Given the description of an element on the screen output the (x, y) to click on. 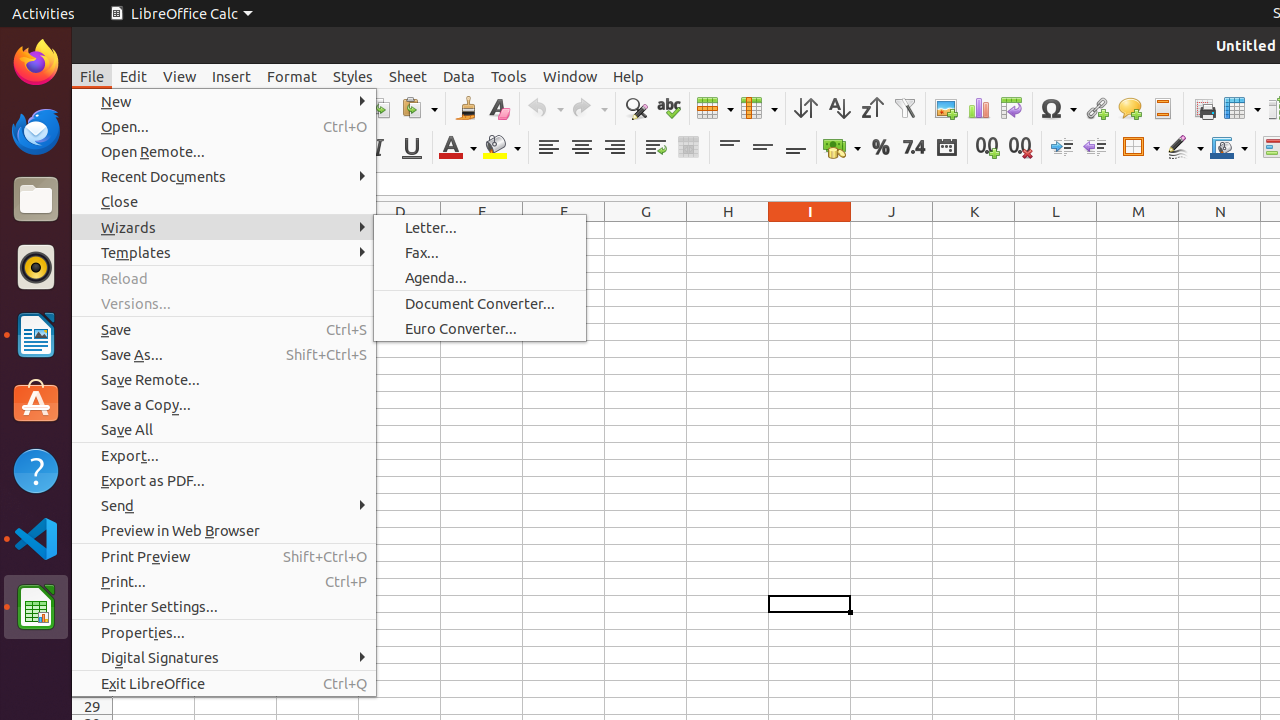
N1 Element type: table-cell (1220, 230)
Center Vertically Element type: push-button (762, 147)
Clear Element type: push-button (498, 108)
Number Element type: push-button (913, 147)
Activities Element type: label (43, 13)
